Given the description of an element on the screen output the (x, y) to click on. 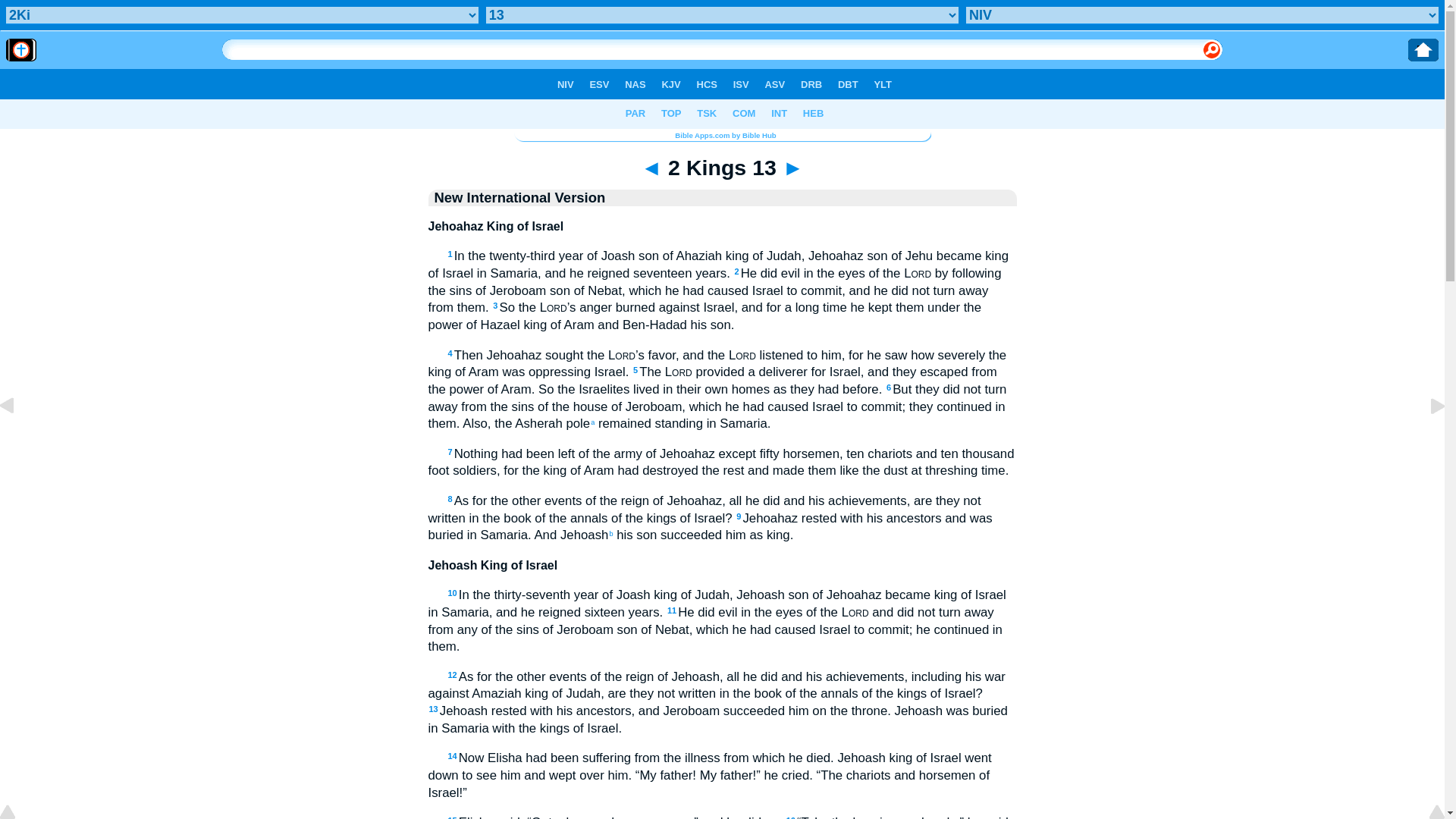
11 (671, 610)
15 (451, 817)
13 (433, 708)
12 (451, 674)
10 (451, 592)
2 Kings 12 (18, 440)
Top of Page (18, 813)
14 (451, 755)
